Given the description of an element on the screen output the (x, y) to click on. 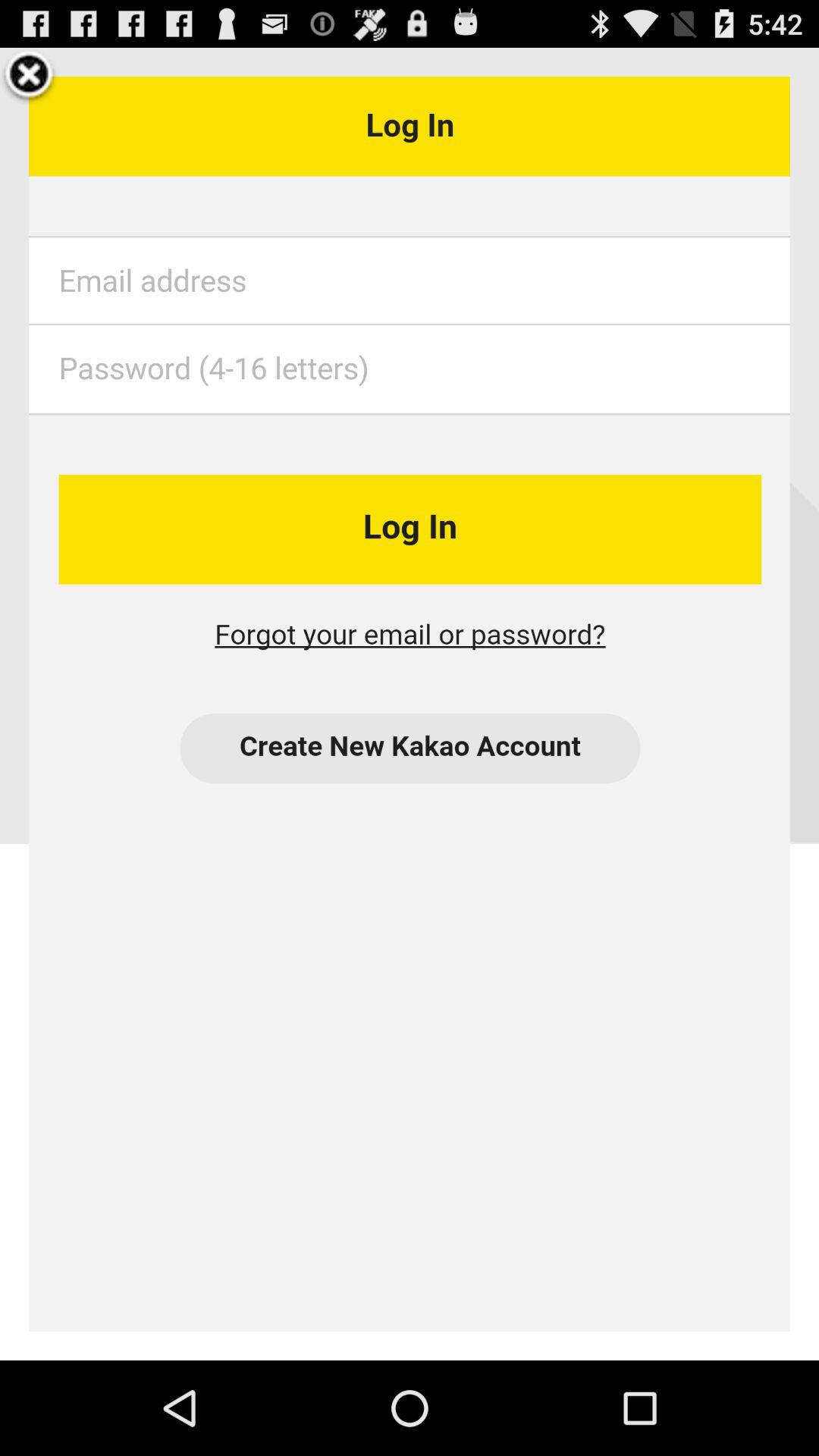
close (29, 76)
